Given the description of an element on the screen output the (x, y) to click on. 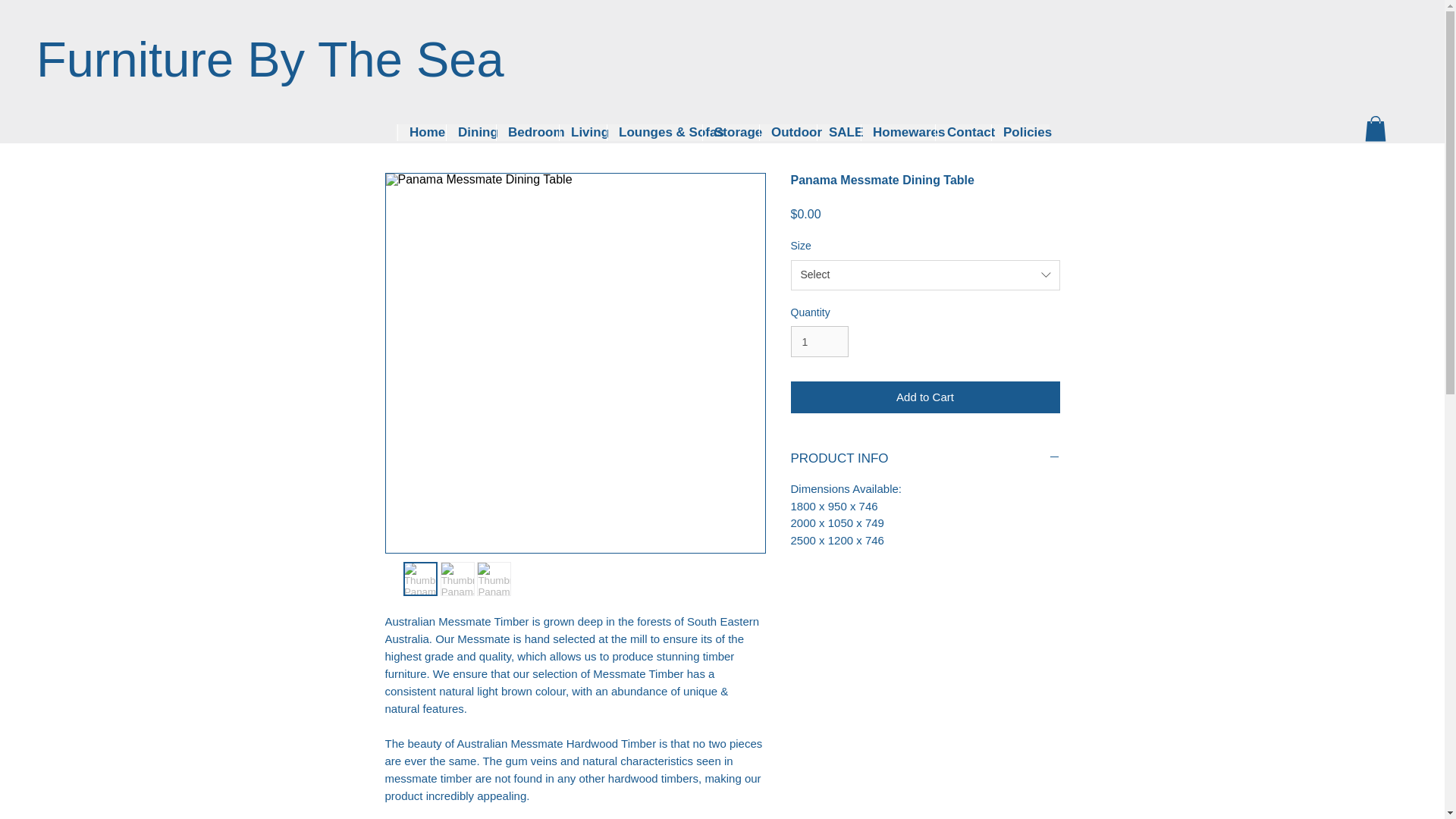
Home (421, 132)
SALE (838, 132)
1 (818, 341)
Living (583, 132)
Outdoor (787, 132)
Homewares (897, 132)
Furniture By The Sea (269, 59)
Dining (470, 132)
Bedroom (527, 132)
Storage (729, 132)
